Given the description of an element on the screen output the (x, y) to click on. 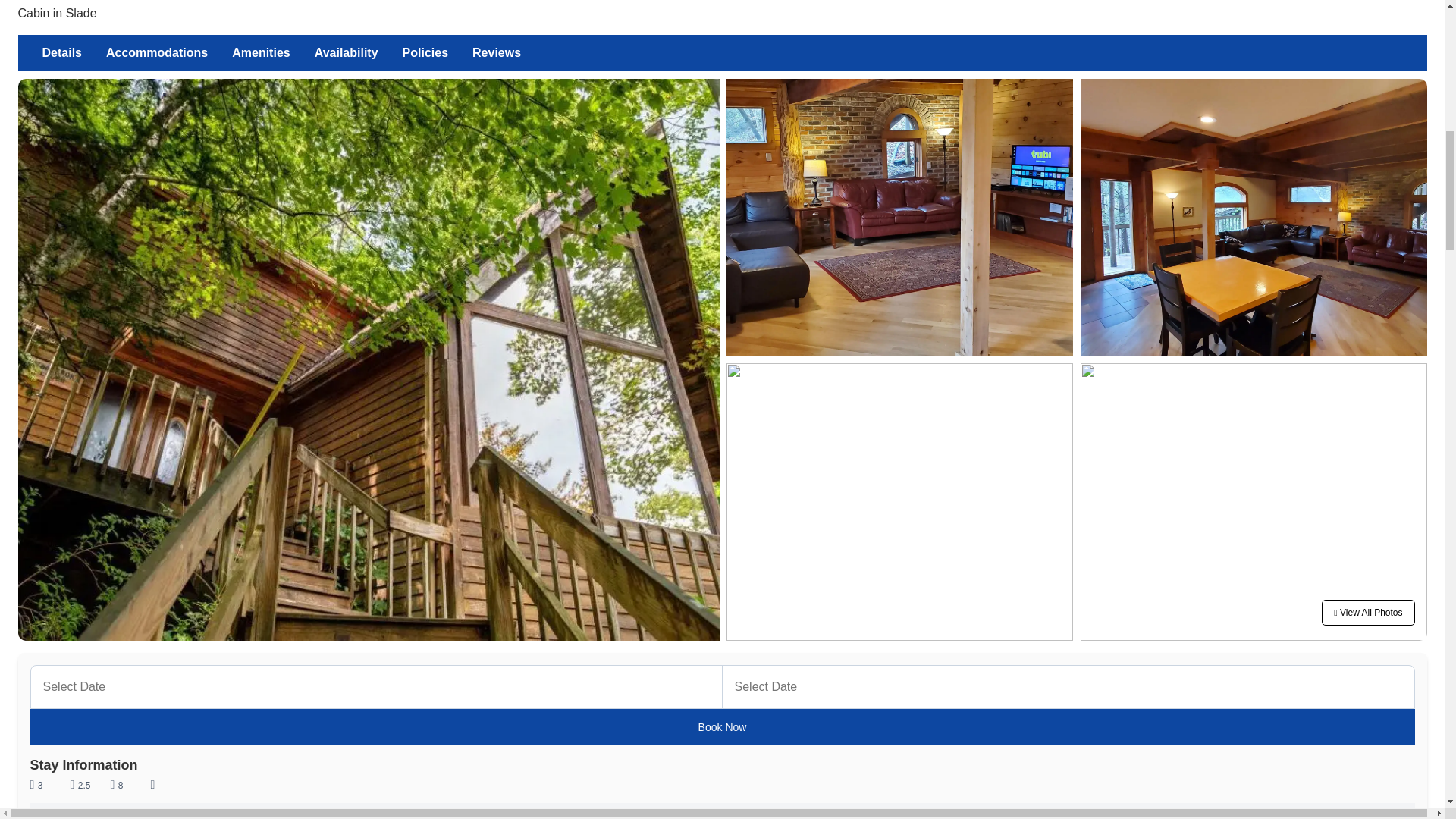
Policies (425, 53)
Book Now (722, 727)
Reviews (496, 53)
Amenities (260, 53)
Accommodations (156, 53)
Availability (62, 53)
View All Photos (346, 53)
Toggle favorite (1367, 612)
